Given the description of an element on the screen output the (x, y) to click on. 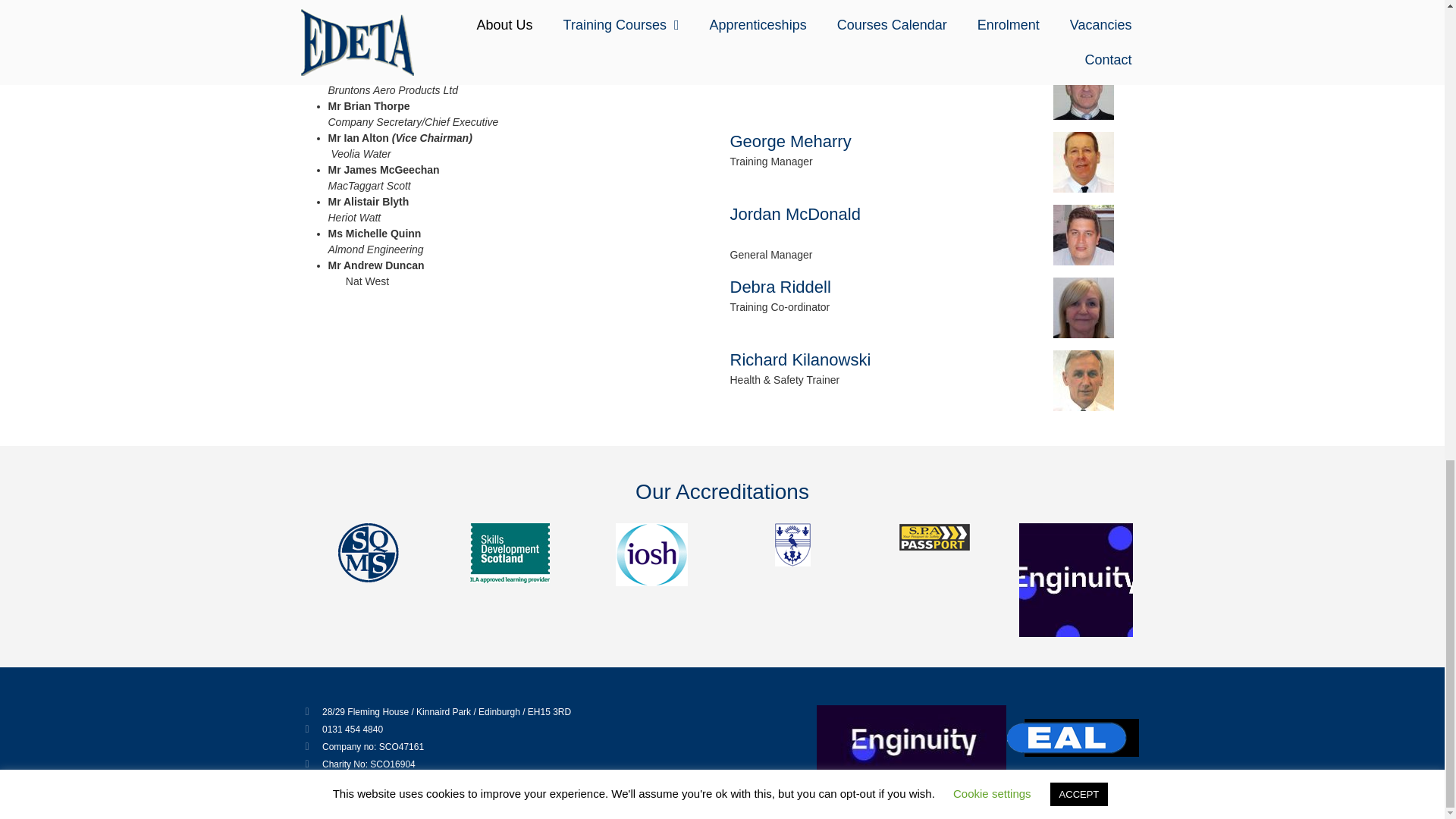
Enginuity (911, 743)
Brian Thorpe (1082, 88)
Debbie (1082, 307)
Jordan (1082, 234)
George Meharry (1082, 161)
R Kilanowski (1082, 380)
